Given the description of an element on the screen output the (x, y) to click on. 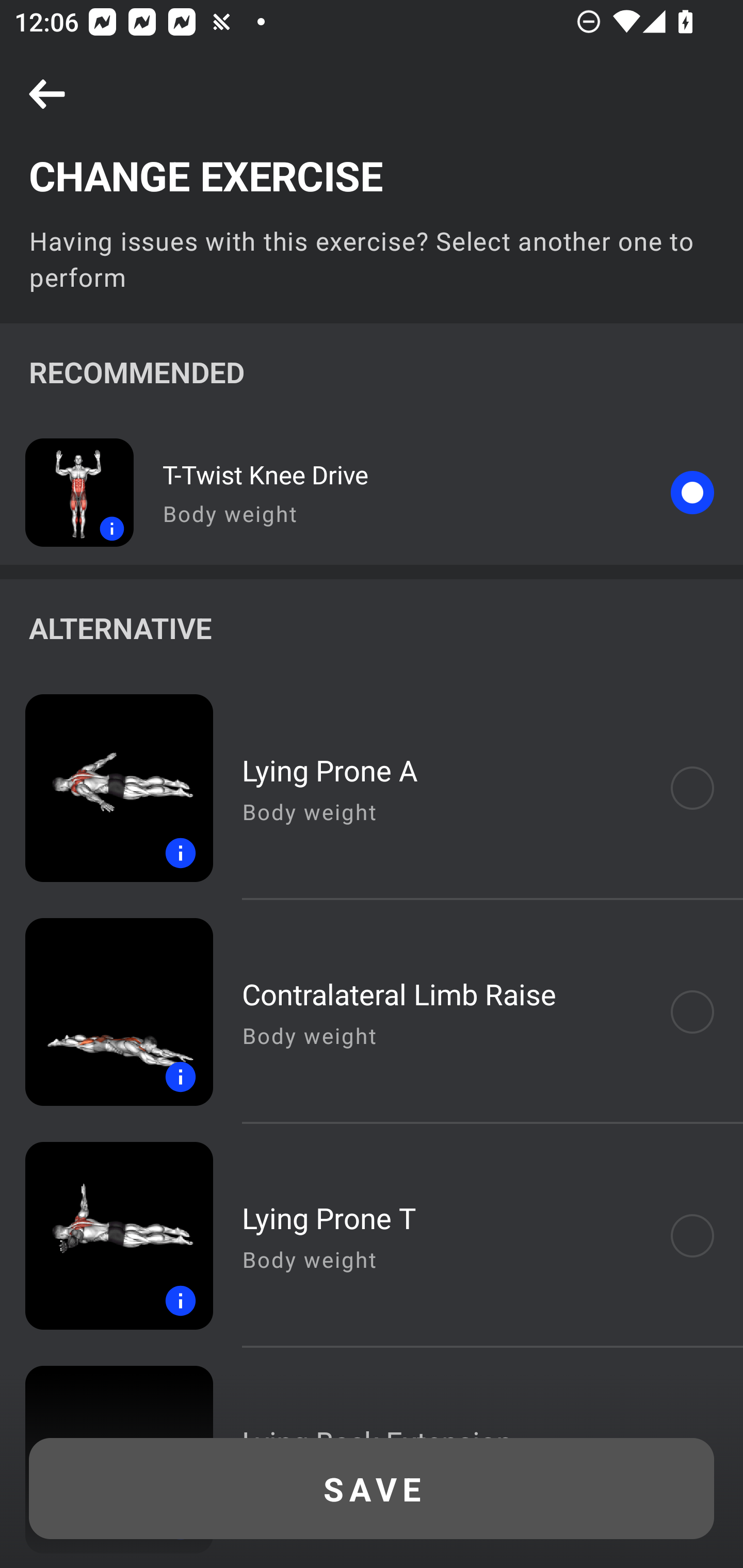
Navigation icon (46, 94)
details T-Twist Knee Drive Body weight (371, 492)
details (66, 492)
details Lying Prone A Body weight (371, 787)
details (106, 787)
details Contralateral Limb Raise Body weight (371, 1012)
details (106, 1012)
details Lying Prone T Body weight (371, 1236)
details (106, 1236)
SAVE (371, 1488)
